Given the description of an element on the screen output the (x, y) to click on. 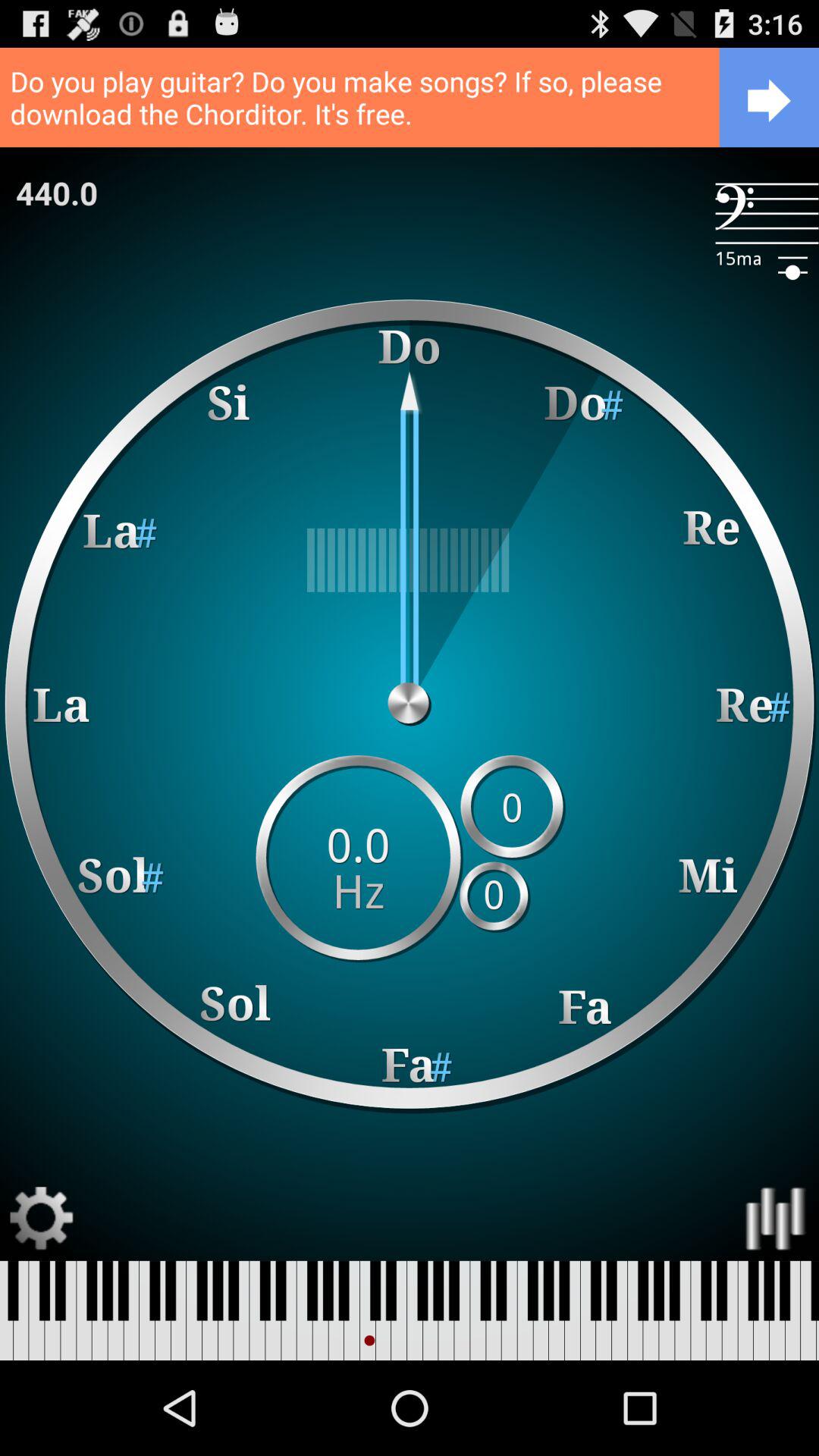
turn on icon below the c a r (767, 213)
